Given the description of an element on the screen output the (x, y) to click on. 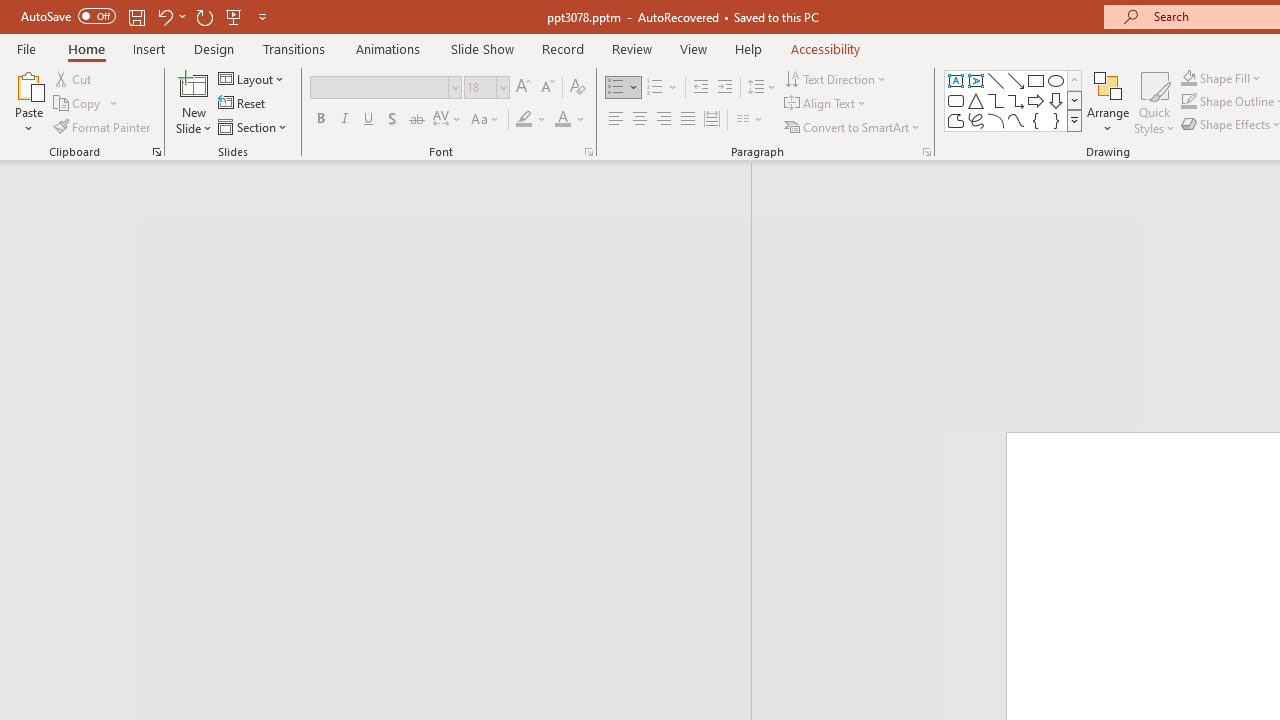
Shape Fill Dark Green, Accent 2 (1188, 78)
